Given the description of an element on the screen output the (x, y) to click on. 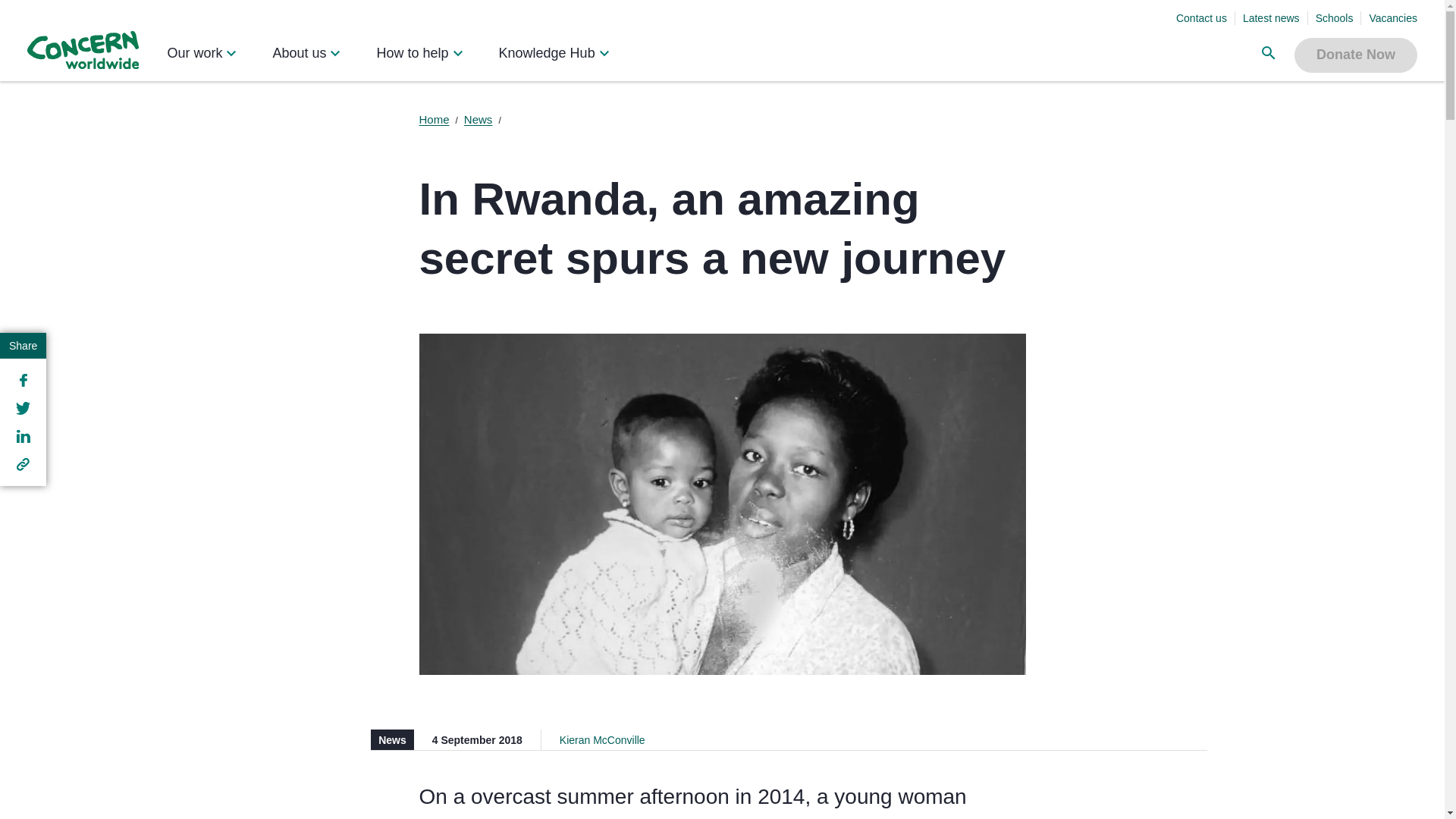
Schools (1335, 18)
Contact us (1201, 18)
How to help (419, 54)
About us (307, 54)
Open search (1268, 54)
Vacancies (1392, 18)
Donate Now (1355, 54)
Our work (202, 54)
Knowledge Hub (556, 54)
Latest news (1271, 18)
